Given the description of an element on the screen output the (x, y) to click on. 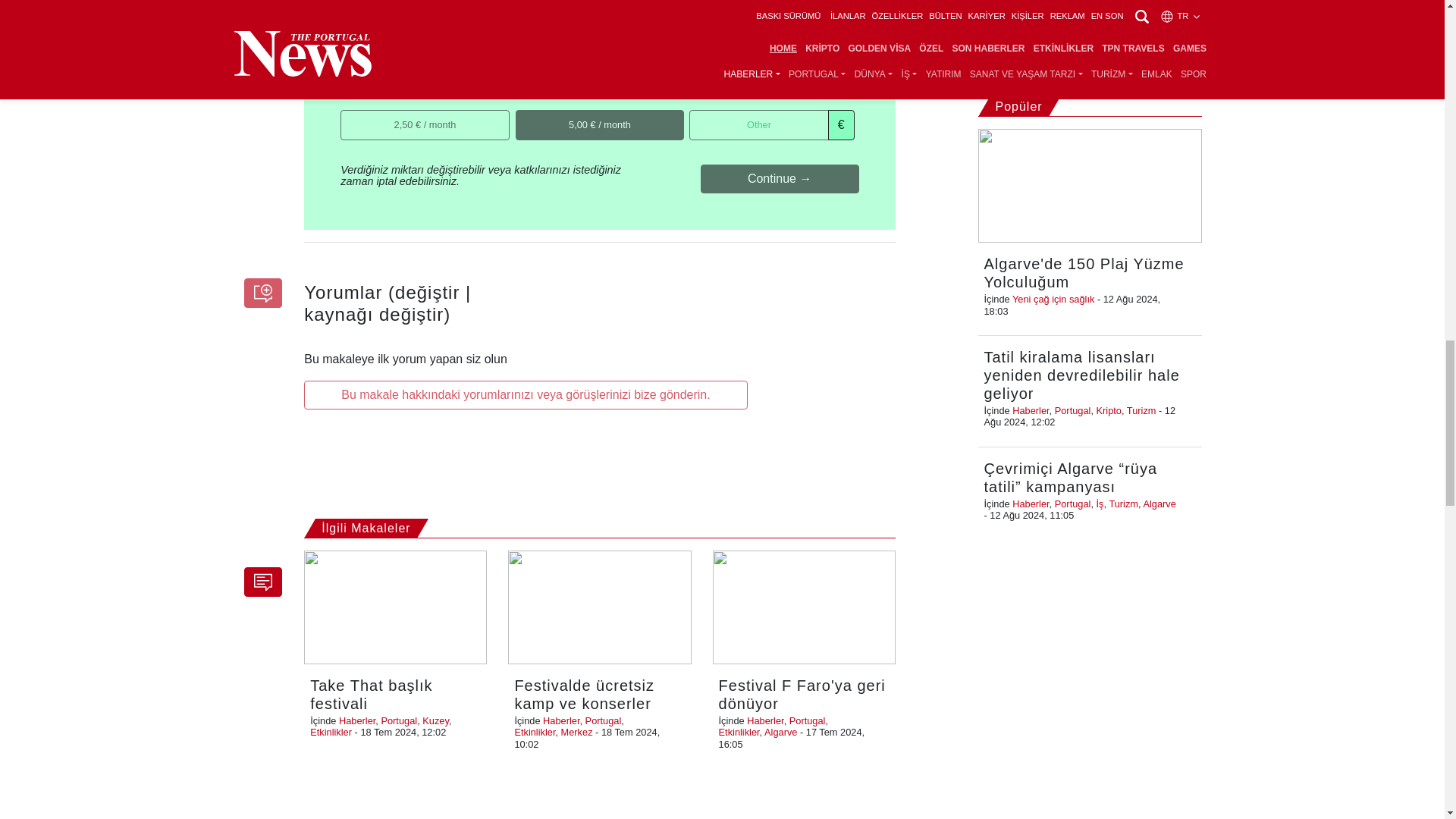
single (345, 66)
P-6T2758016F920900CMGGQYMQ (520, 66)
P-18662245734186221MGVD6SI (695, 66)
2.5 (345, 114)
5 (520, 114)
